Given the description of an element on the screen output the (x, y) to click on. 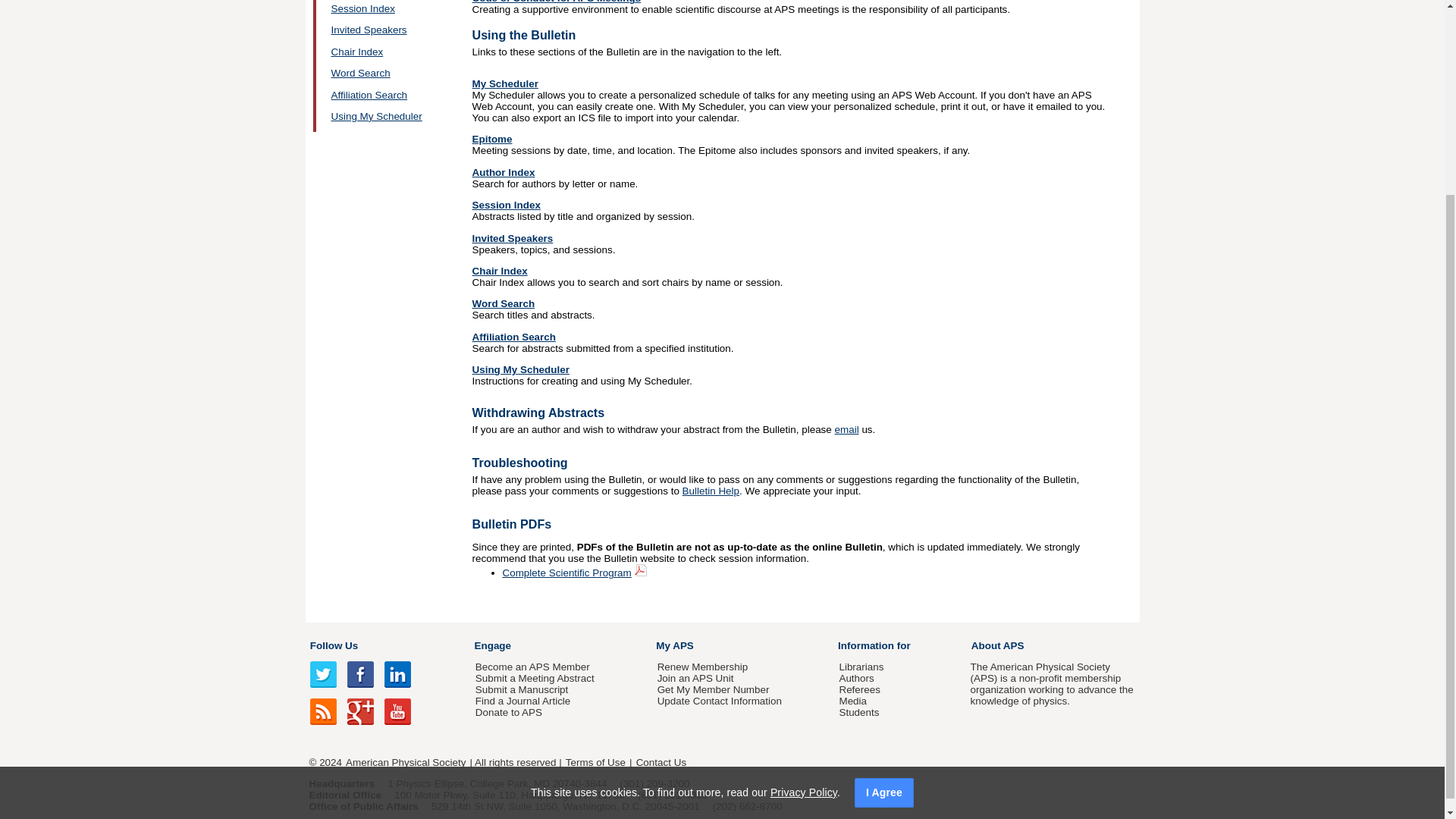
Google Plus (360, 711)
Word Search (502, 303)
Affiliation Search (368, 93)
RSS Feeds (323, 711)
YouTube (397, 711)
Chair Index (356, 51)
Using My Scheduler (520, 369)
Author Index (502, 172)
Complete Scientific Program (566, 572)
email (846, 429)
Bulletin Help (710, 490)
Session Index (362, 8)
Facebook (360, 673)
Donate to APS (508, 712)
My Scheduler (504, 83)
